Given the description of an element on the screen output the (x, y) to click on. 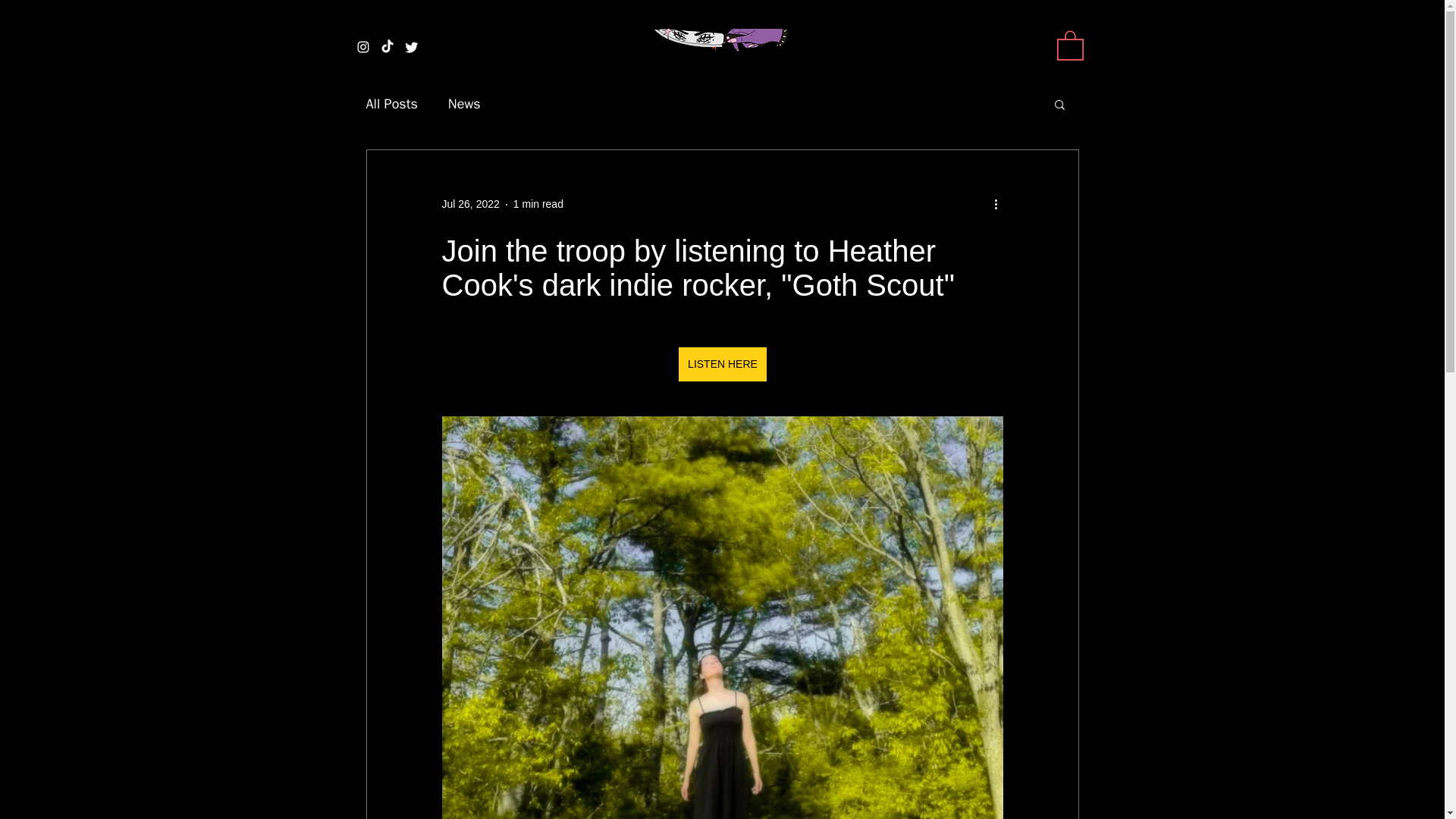
News (464, 104)
All Posts (390, 104)
1 min read (538, 203)
Jul 26, 2022 (470, 203)
LISTEN HERE (722, 364)
